Given the description of an element on the screen output the (x, y) to click on. 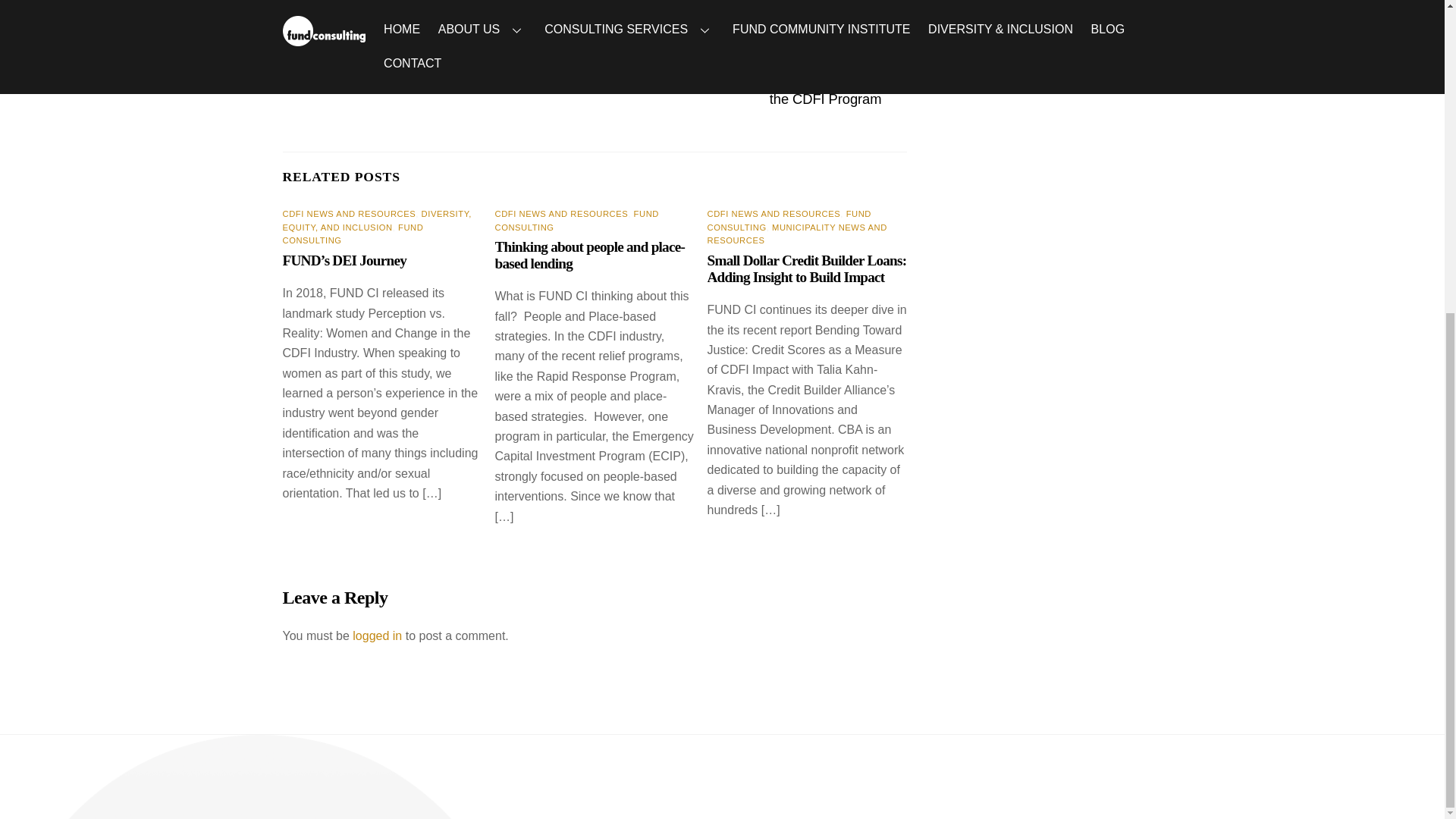
CDFI NEWS AND RESOURCES (561, 213)
CDFI NEWS AND RESOURCES (348, 213)
FUND CONSULTING (352, 233)
DIVERSITY, EQUITY, AND INCLUSION (376, 220)
Thinking about people and place-based lending (590, 255)
FUND CONSULTING (788, 220)
Responding to Requests for Comments on the CDFI Program (746, 89)
FUND CONSULTING (577, 220)
MUNICIPALITY NEWS AND RESOURCES (796, 233)
logged in (376, 635)
CDFI NEWS AND RESOURCES (774, 213)
